Given the description of an element on the screen output the (x, y) to click on. 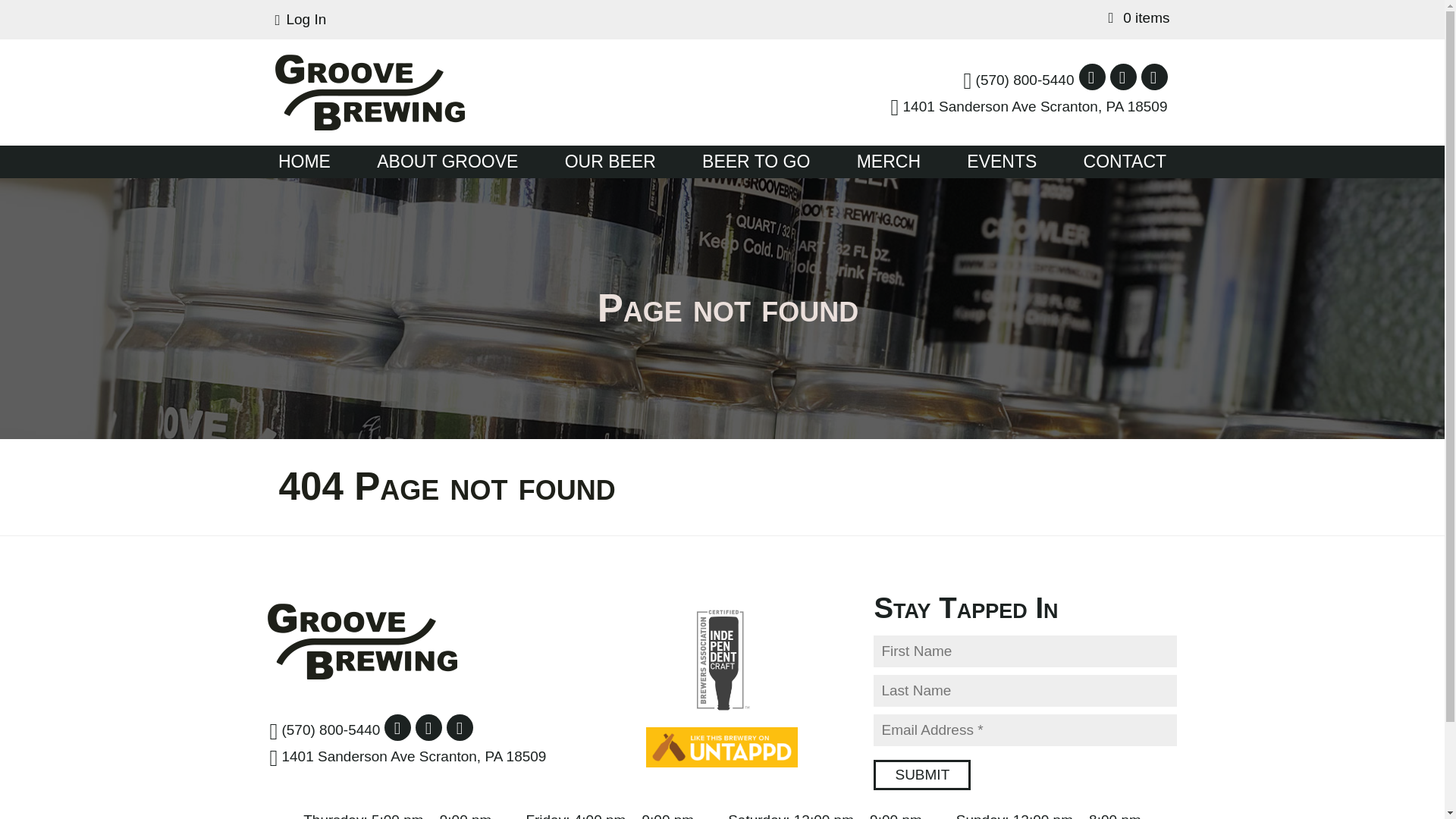
HOME (304, 161)
ABOUT GROOVE (446, 161)
EVENTS (1001, 161)
CONTACT (1125, 161)
OUR BEER (610, 161)
0 items (1139, 17)
1401 Sanderson Ave Scranton, PA 18509 (408, 757)
Submit (922, 775)
1401 Sanderson Ave Scranton, PA 18509 (1029, 106)
Yelp (1153, 76)
Instagram (1123, 76)
Log In (300, 19)
Submit (922, 775)
BEER TO GO (756, 161)
Instagram (428, 727)
